Given the description of an element on the screen output the (x, y) to click on. 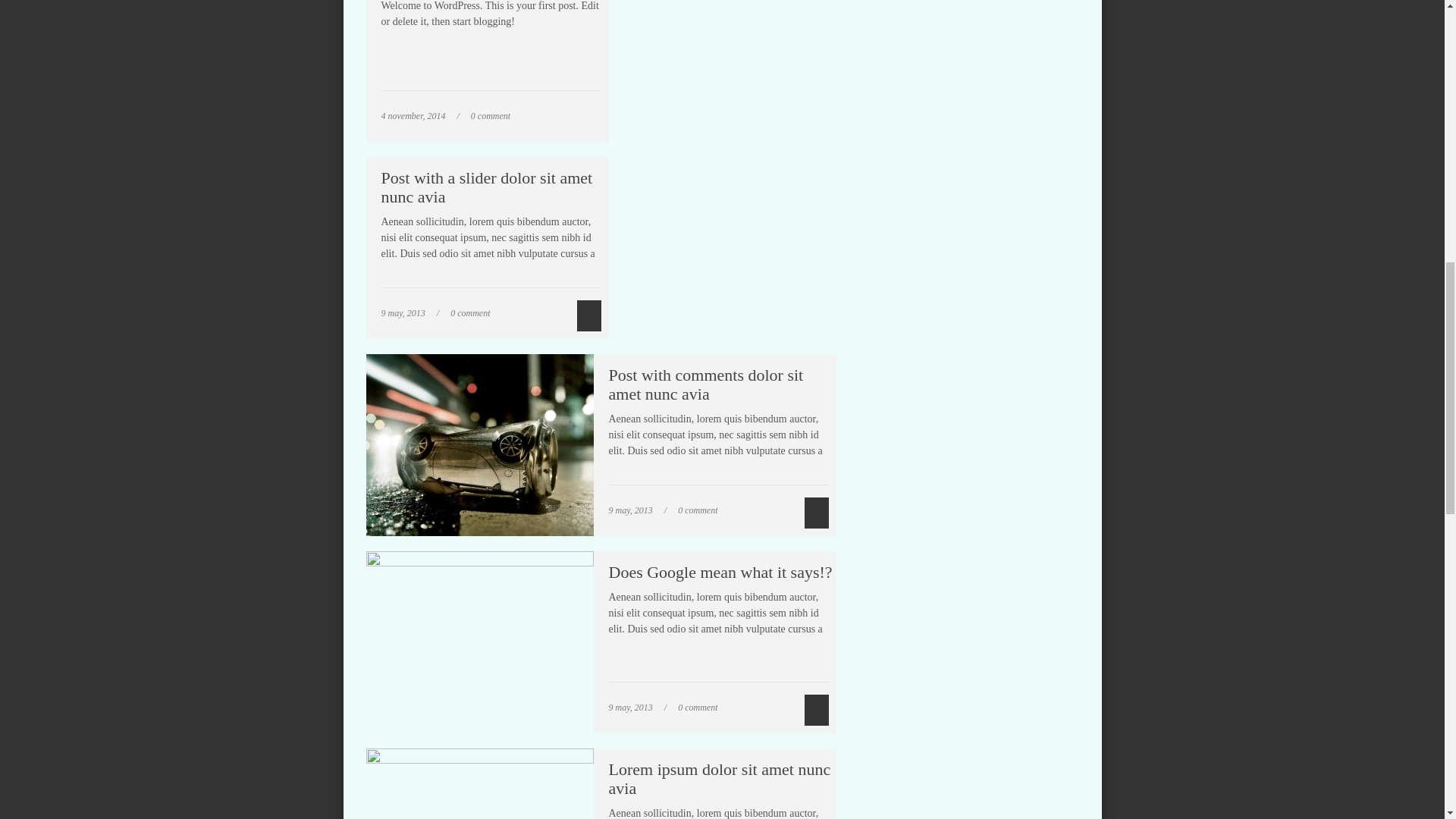
0 comment (469, 312)
Post with a slider dolor sit amet nunc avia (486, 187)
Does Google mean what it says!? (719, 571)
Post with comments dolor sit amet nunc avia (705, 384)
Lorem ipsum dolor sit amet nunc avia (718, 778)
Post with comments dolor sit amet nunc avia (705, 384)
0 comment (697, 510)
Post with a slider dolor sit amet nunc avia (486, 187)
Does Google mean what it says!? (719, 571)
0 comment (490, 115)
